Given the description of an element on the screen output the (x, y) to click on. 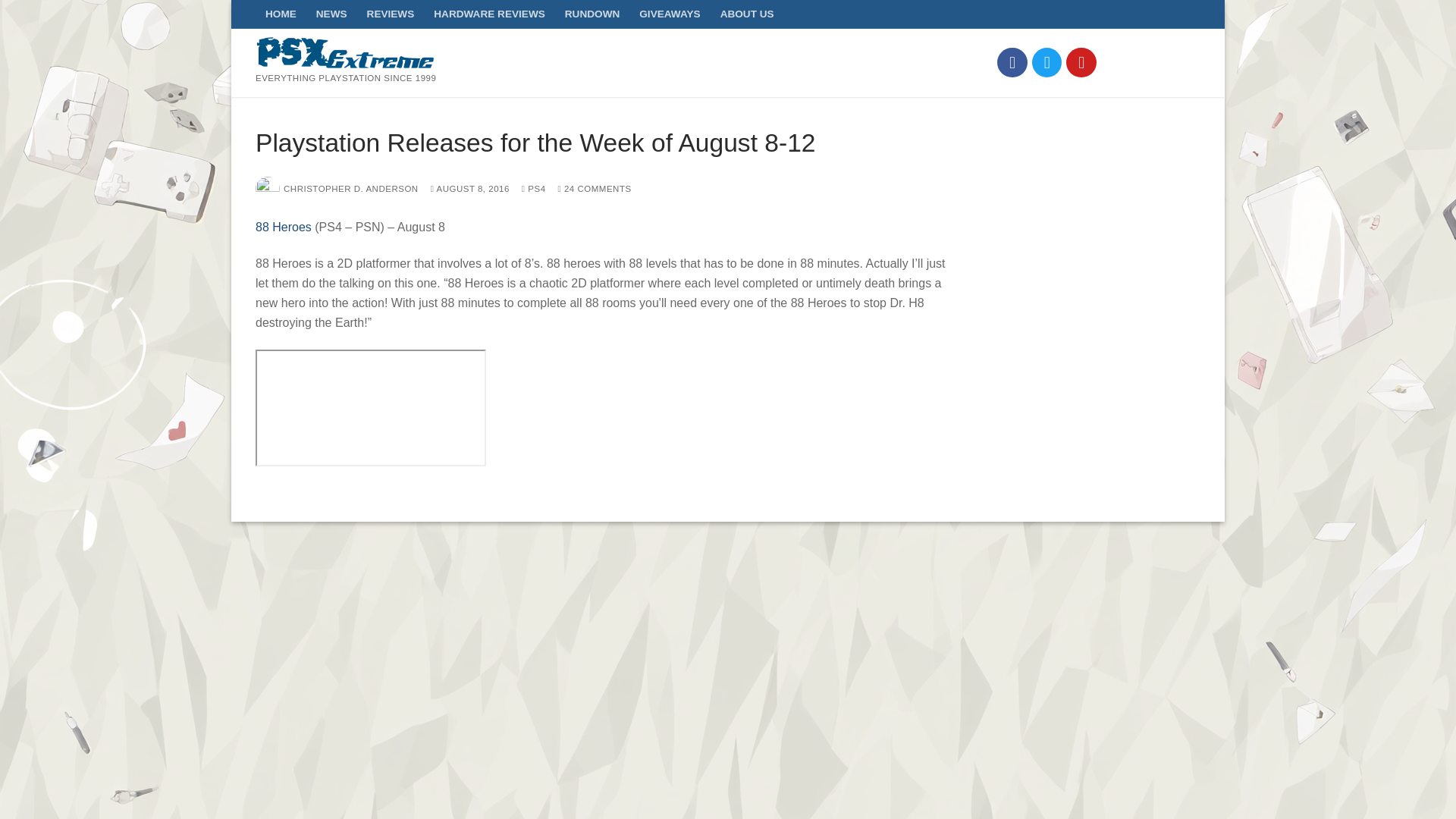
NEWS (330, 14)
RUNDOWN (592, 14)
PS4 (533, 188)
Youtube (1081, 62)
Facebook (1012, 62)
REVIEWS (390, 14)
24 COMMENTS (594, 188)
HARDWARE REVIEWS (488, 14)
88 Heroes (283, 226)
AUGUST 8, 2016 (469, 188)
